Given the description of an element on the screen output the (x, y) to click on. 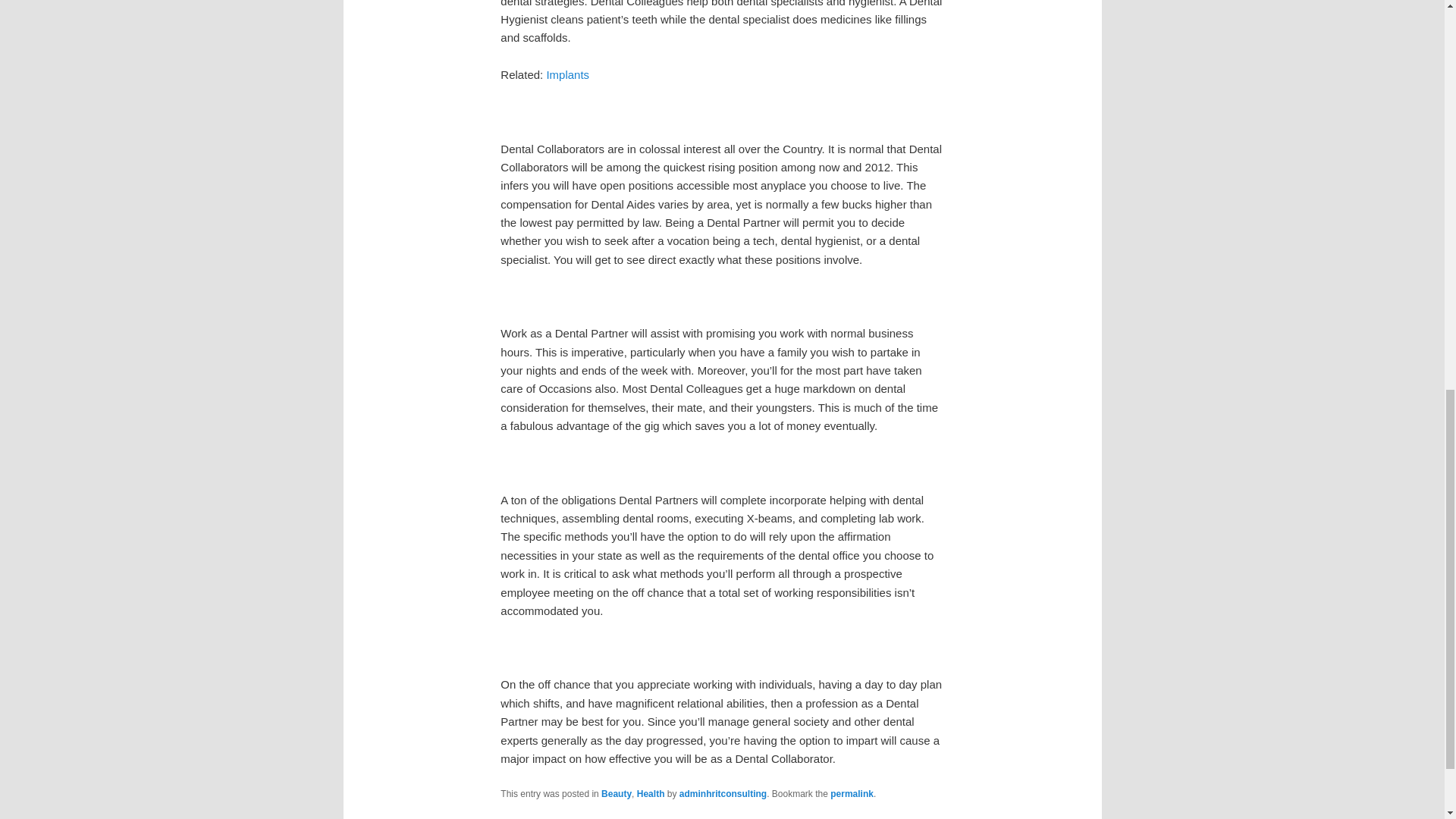
permalink (851, 793)
Beauty (616, 793)
Health (651, 793)
adminhritconsulting (723, 793)
Implants (567, 74)
